Given the description of an element on the screen output the (x, y) to click on. 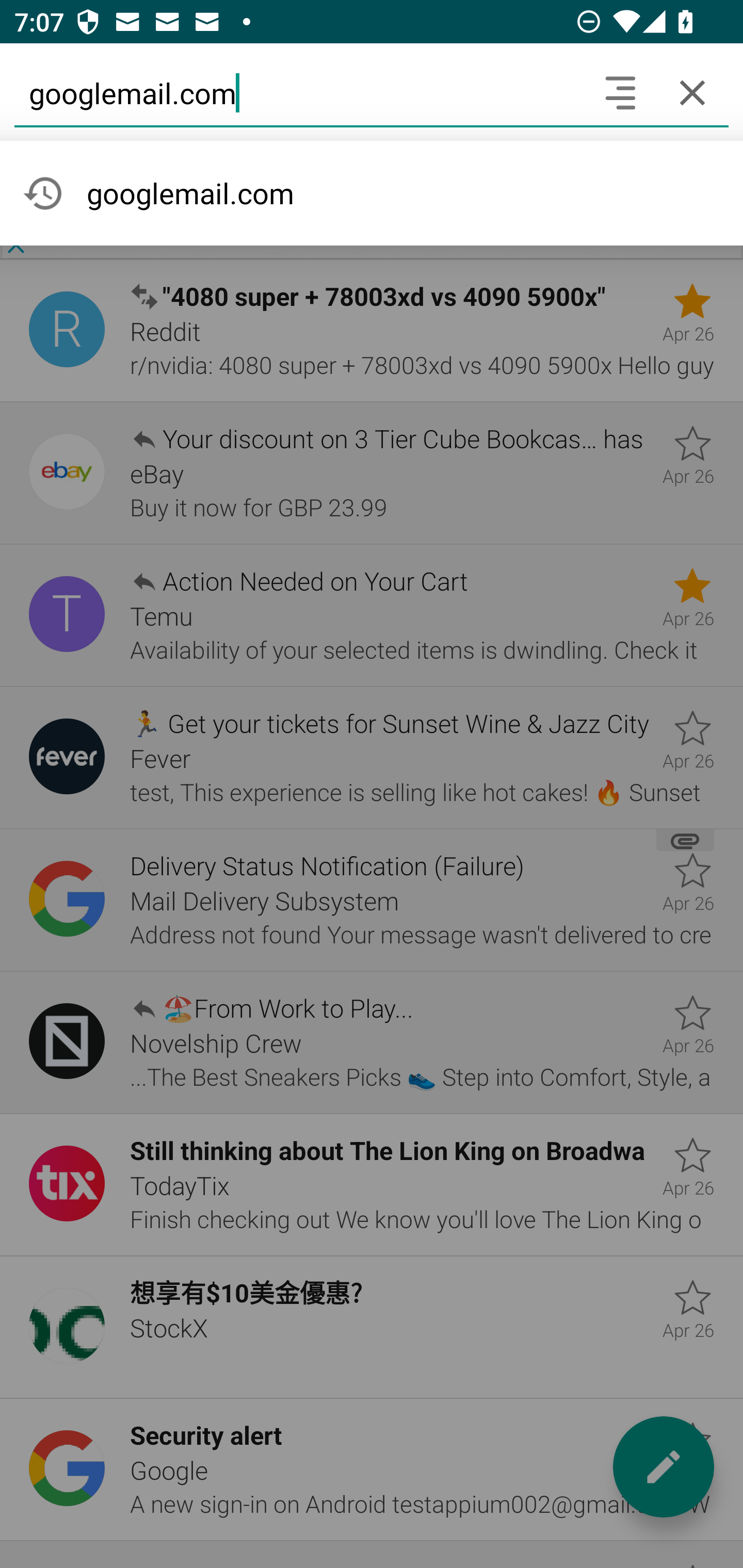
googlemail.com (298, 92)
Search headers and text (619, 92)
Cancel (692, 92)
